Given the description of an element on the screen output the (x, y) to click on. 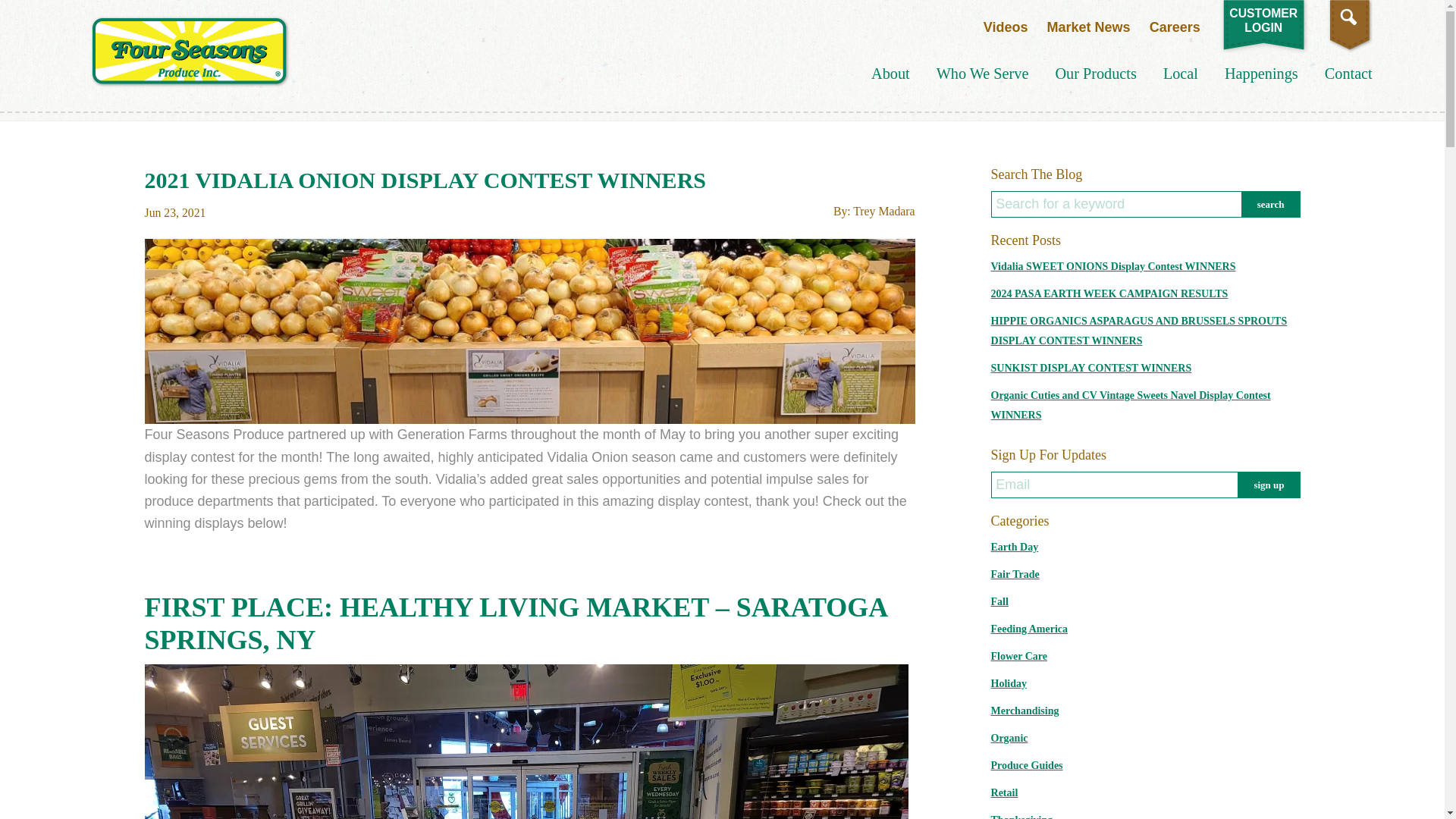
About (890, 73)
Happenings (1261, 73)
Careers (1174, 27)
Vidalia SWEET ONIONS Display Contest WINNERS (1113, 266)
Who We Serve (982, 73)
Search (1270, 203)
Search (1270, 203)
Contact (1348, 73)
Local (1180, 73)
Videos (1262, 20)
Our Products (1005, 27)
Market News (1094, 73)
